Given the description of an element on the screen output the (x, y) to click on. 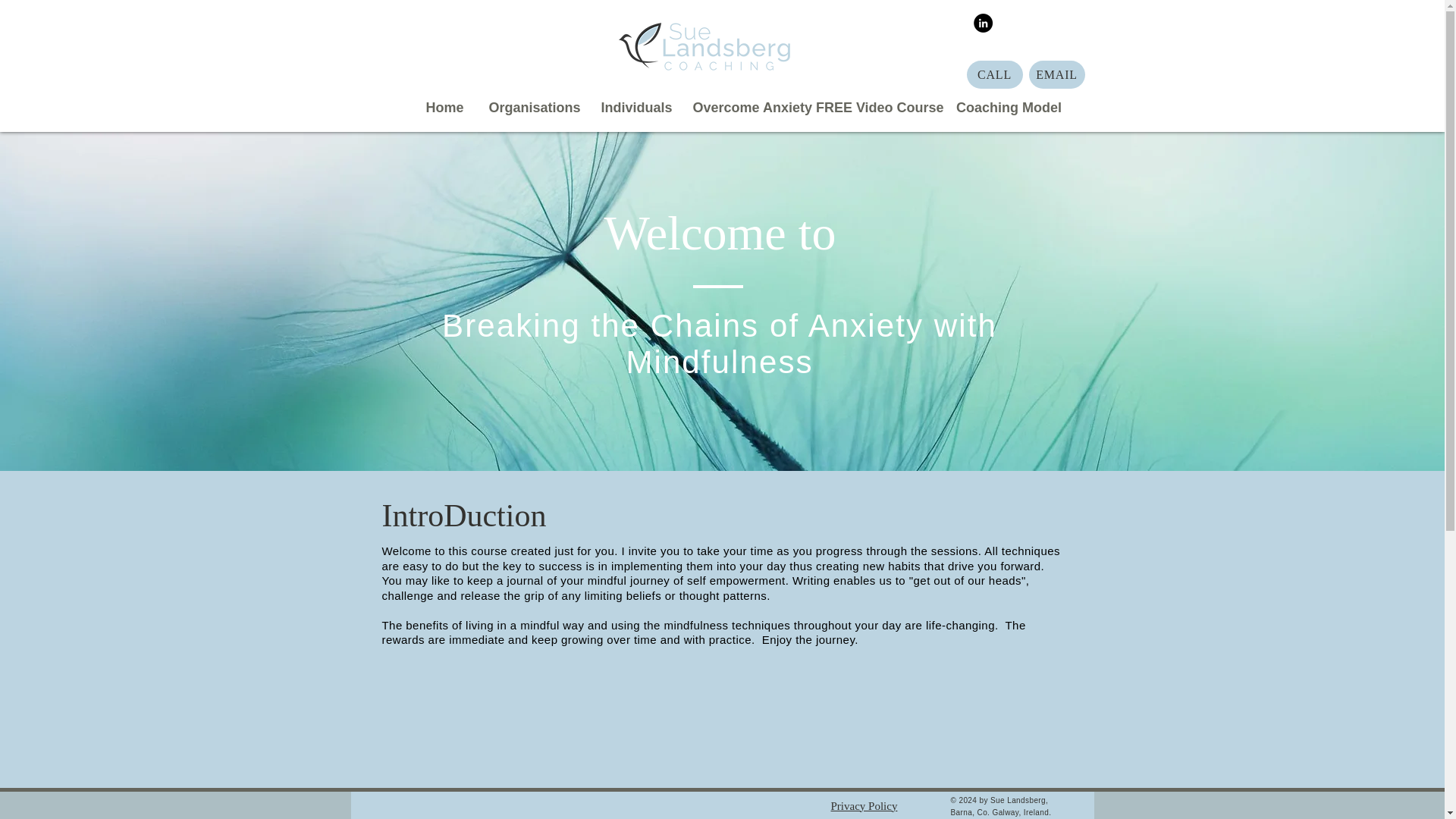
Individuals (635, 107)
Home (444, 107)
Coaching Model (1009, 107)
EMAIL (1055, 74)
Privacy Policy (864, 806)
Organisations (533, 107)
CALL (994, 74)
